Given the description of an element on the screen output the (x, y) to click on. 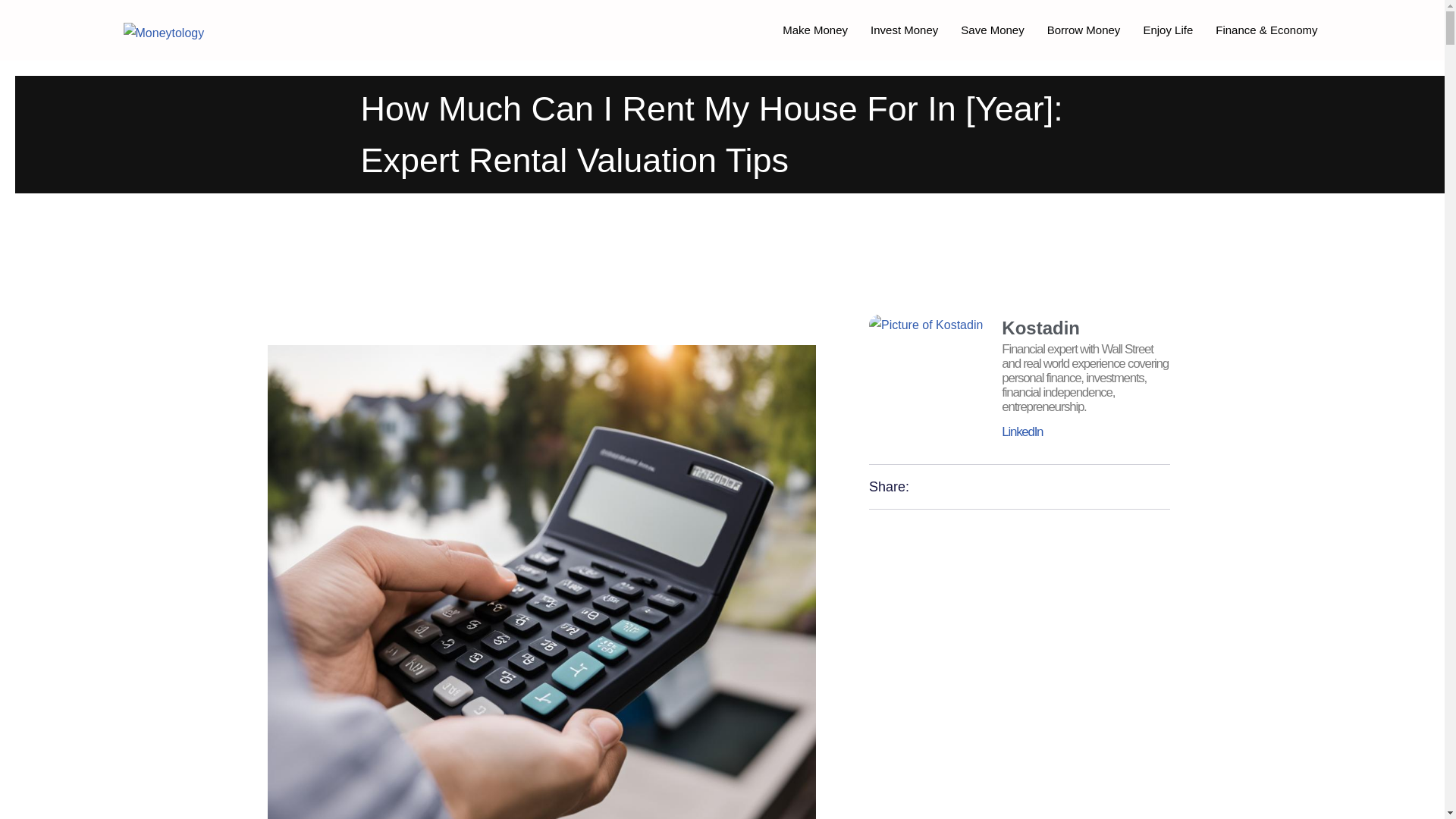
Invest Money (904, 30)
Save Money (992, 30)
Enjoy Life (1167, 30)
LinkedIn (1021, 431)
Borrow Money (1083, 30)
Kostadin (1085, 328)
Make Money (815, 30)
